Given the description of an element on the screen output the (x, y) to click on. 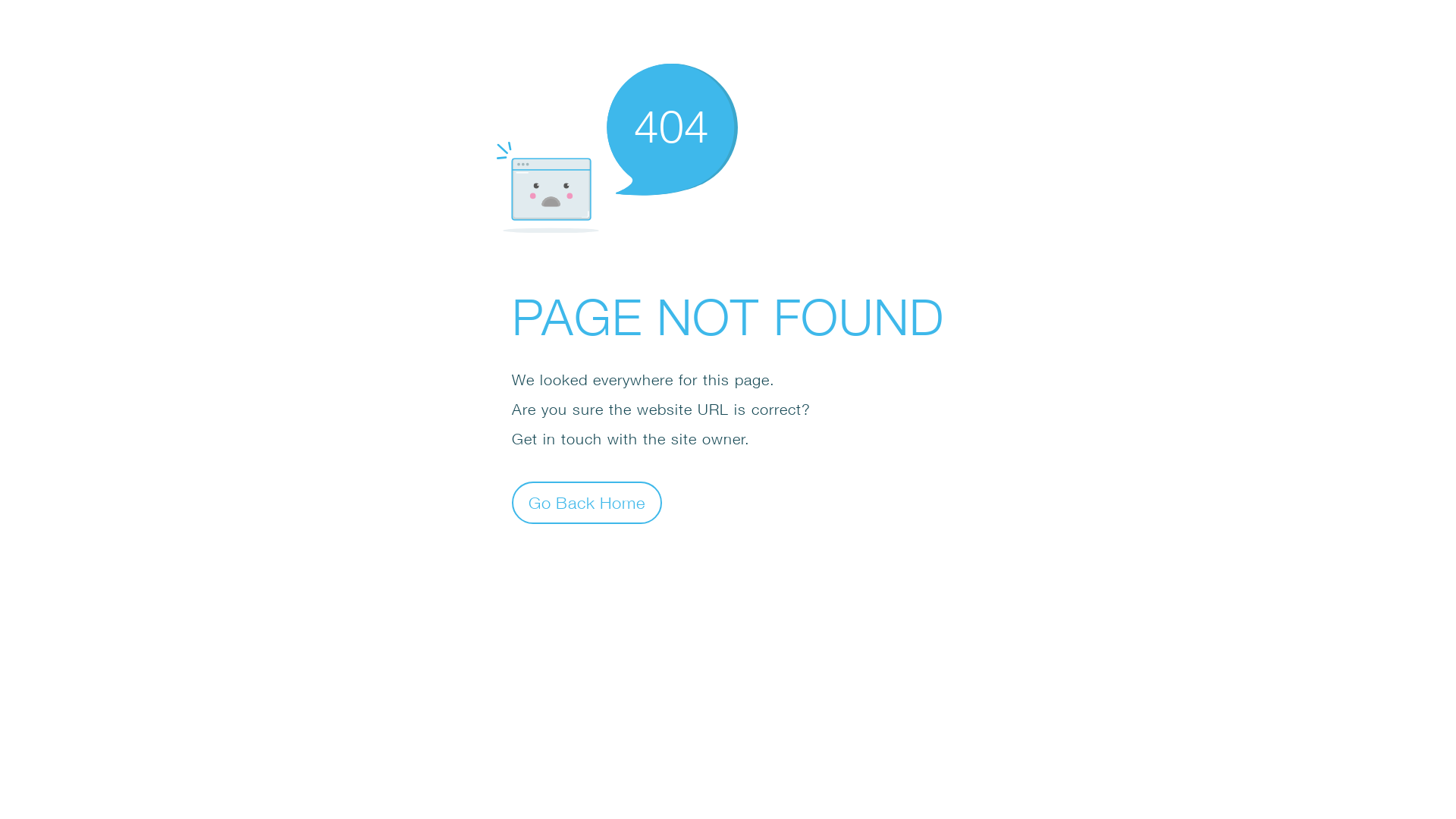
Go Back Home Element type: text (586, 502)
